Given the description of an element on the screen output the (x, y) to click on. 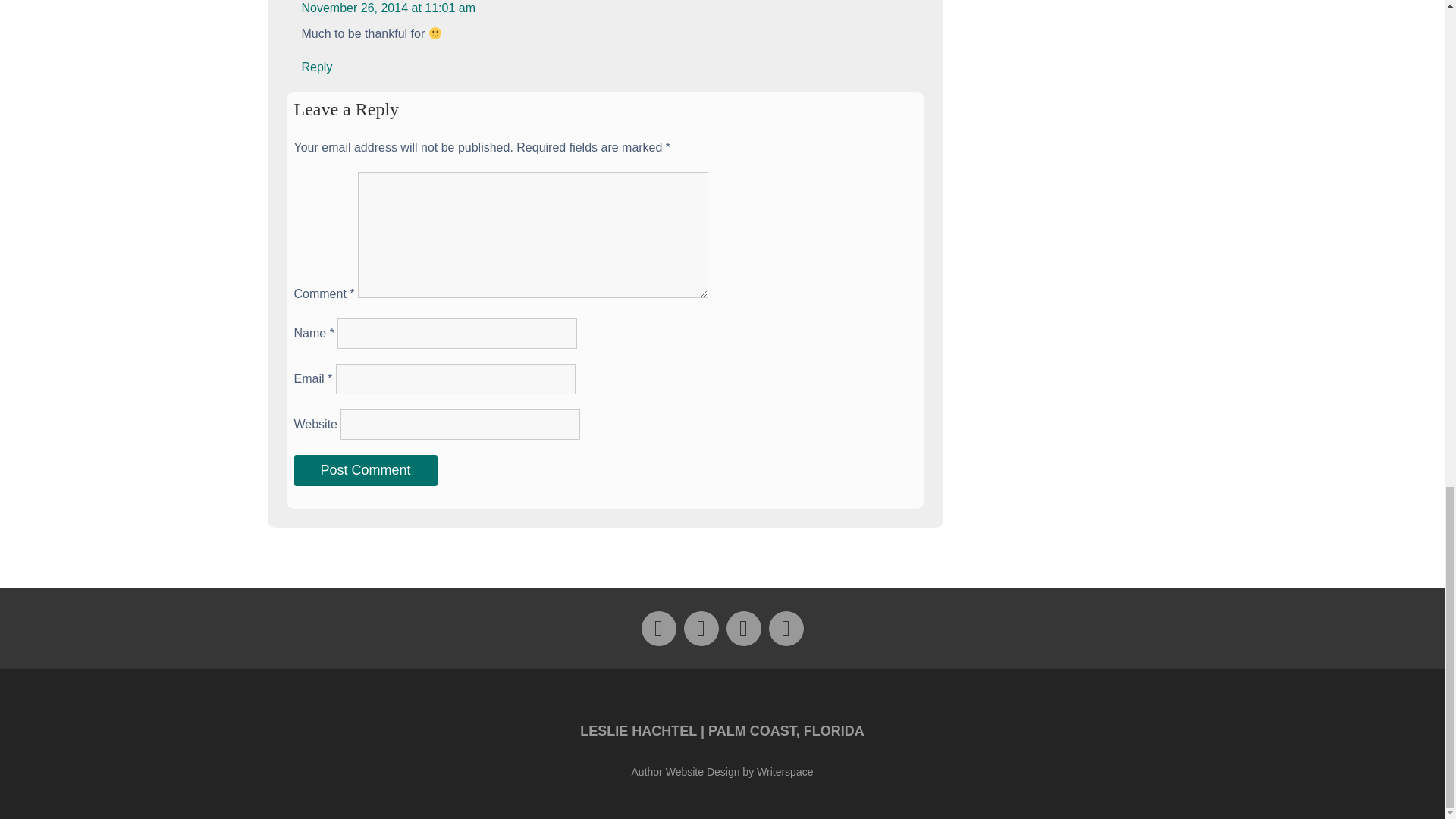
Post Comment (366, 470)
Post Comment (366, 470)
November 26, 2014 at 11:01 am (388, 7)
Twitter (701, 628)
Instagram (743, 628)
Author Website Design by Writerspace (722, 771)
Email (785, 628)
Reply (317, 66)
Facebook (659, 628)
